Given the description of an element on the screen output the (x, y) to click on. 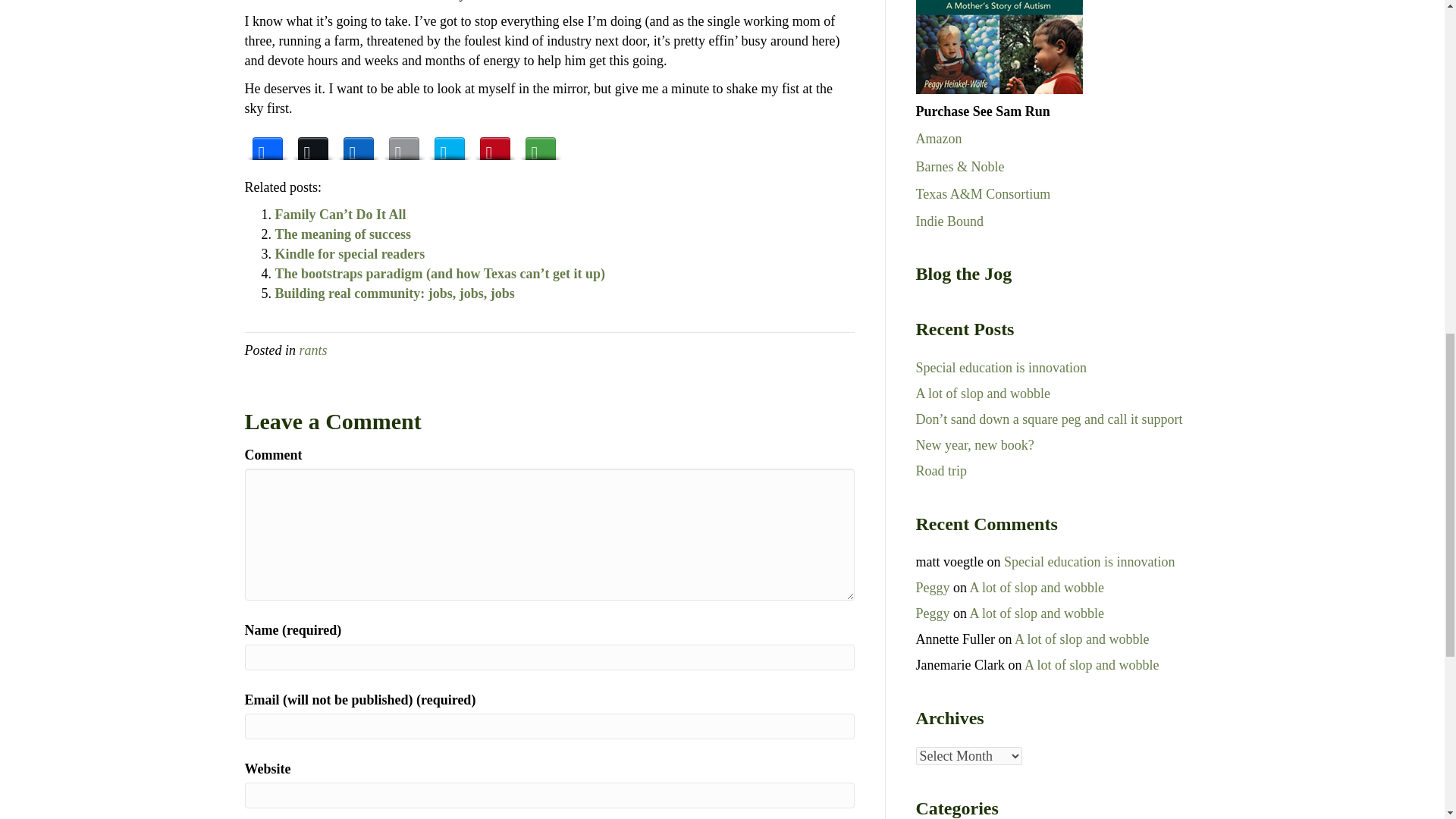
Pinterest (493, 144)
More Options (539, 144)
Amazon (938, 138)
rants (312, 350)
LinkedIn (357, 144)
Building real community: jobs, jobs, jobs (394, 293)
PrintFriendly (448, 144)
The meaning of success (342, 233)
The meaning of success (342, 233)
Kindle for special readers (350, 253)
